Given the description of an element on the screen output the (x, y) to click on. 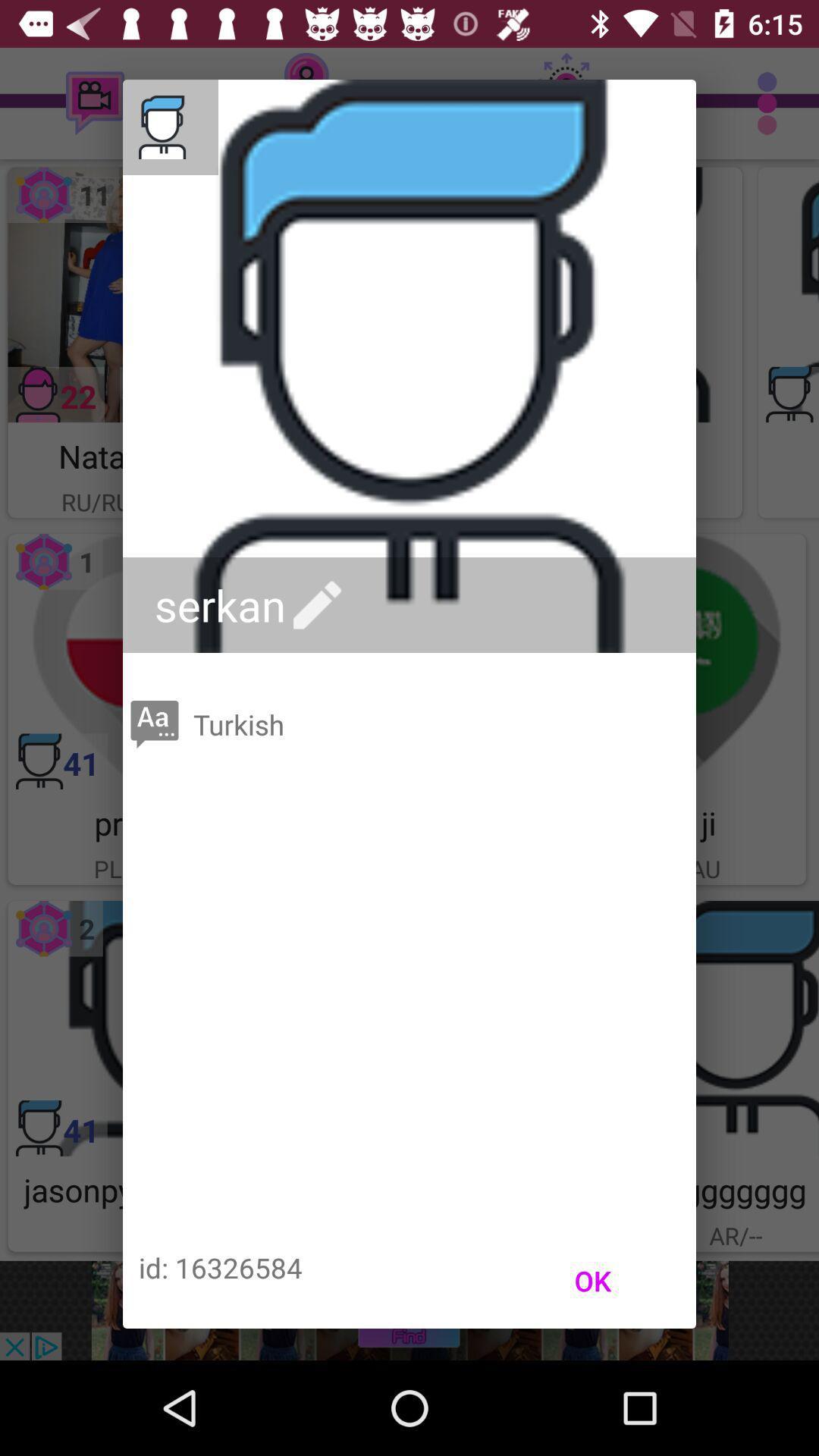
launch the icon at the bottom right corner (592, 1280)
